Given the description of an element on the screen output the (x, y) to click on. 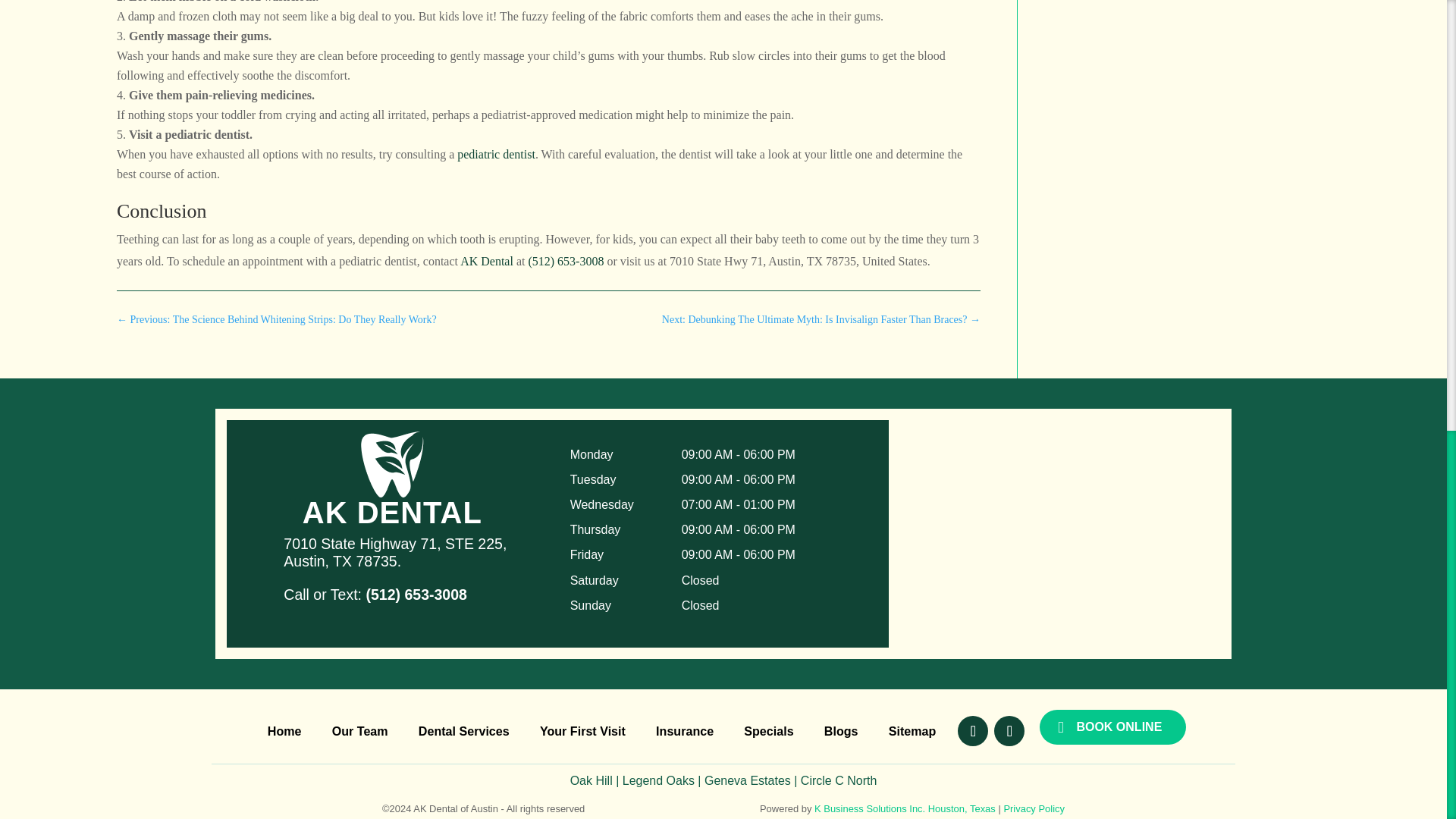
Blogs (841, 733)
Specials (768, 733)
pediatric dentist (496, 154)
Follow on Facebook (973, 730)
AK Dental (486, 260)
Our Team (359, 733)
Follow on Instagram (1009, 730)
Home (284, 733)
Sitemap (912, 733)
Your First Visit (583, 733)
Dental Services (464, 733)
Insurance (684, 733)
